Given the description of an element on the screen output the (x, y) to click on. 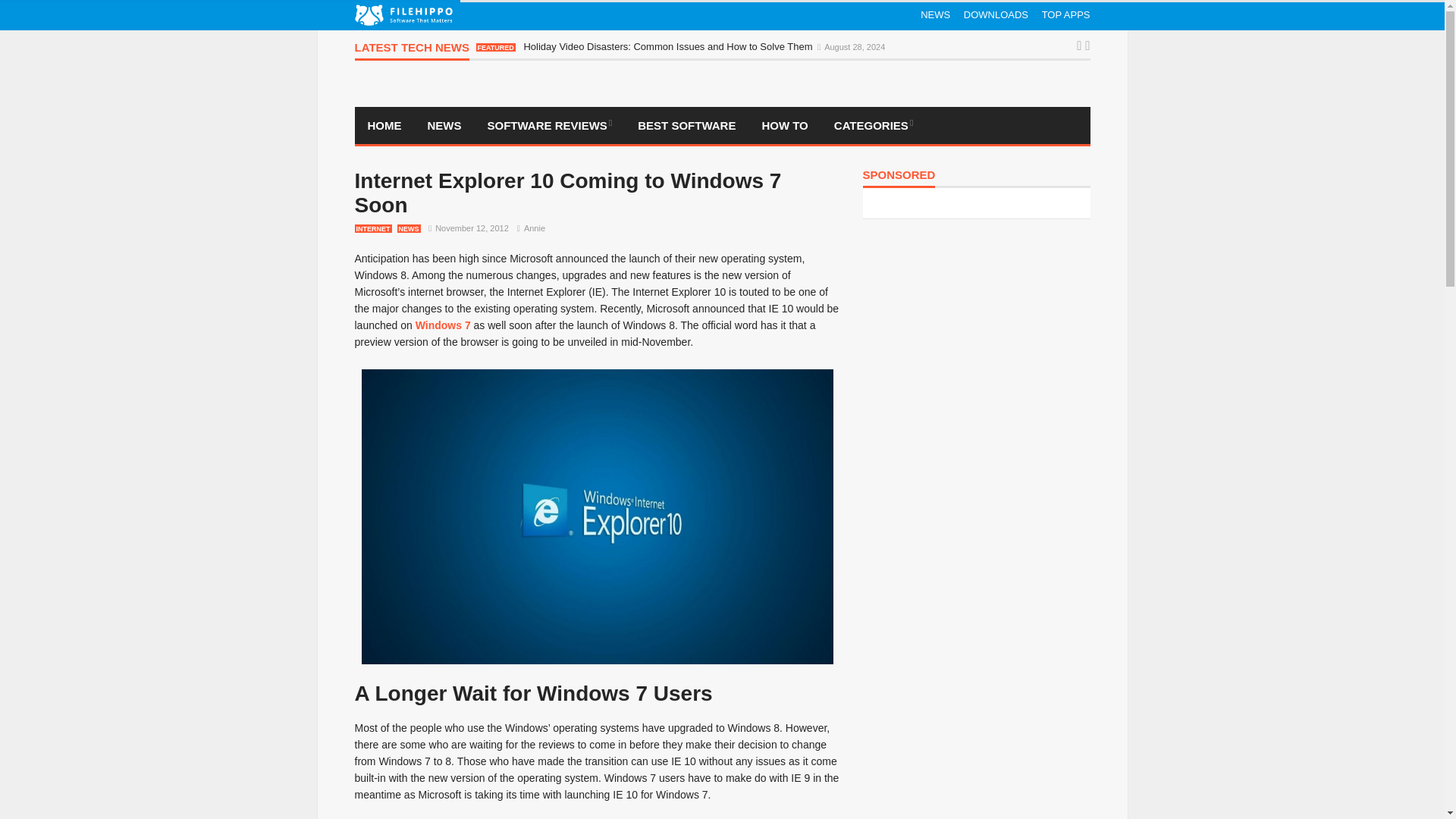
SOFTWARE REVIEWS (550, 125)
Home (384, 125)
TOP APPS (1066, 14)
HOME (384, 125)
Best Software (686, 125)
NEWS (443, 125)
LATEST TECH NEWS (411, 50)
Categories (873, 125)
NEWS (935, 14)
